Given the description of an element on the screen output the (x, y) to click on. 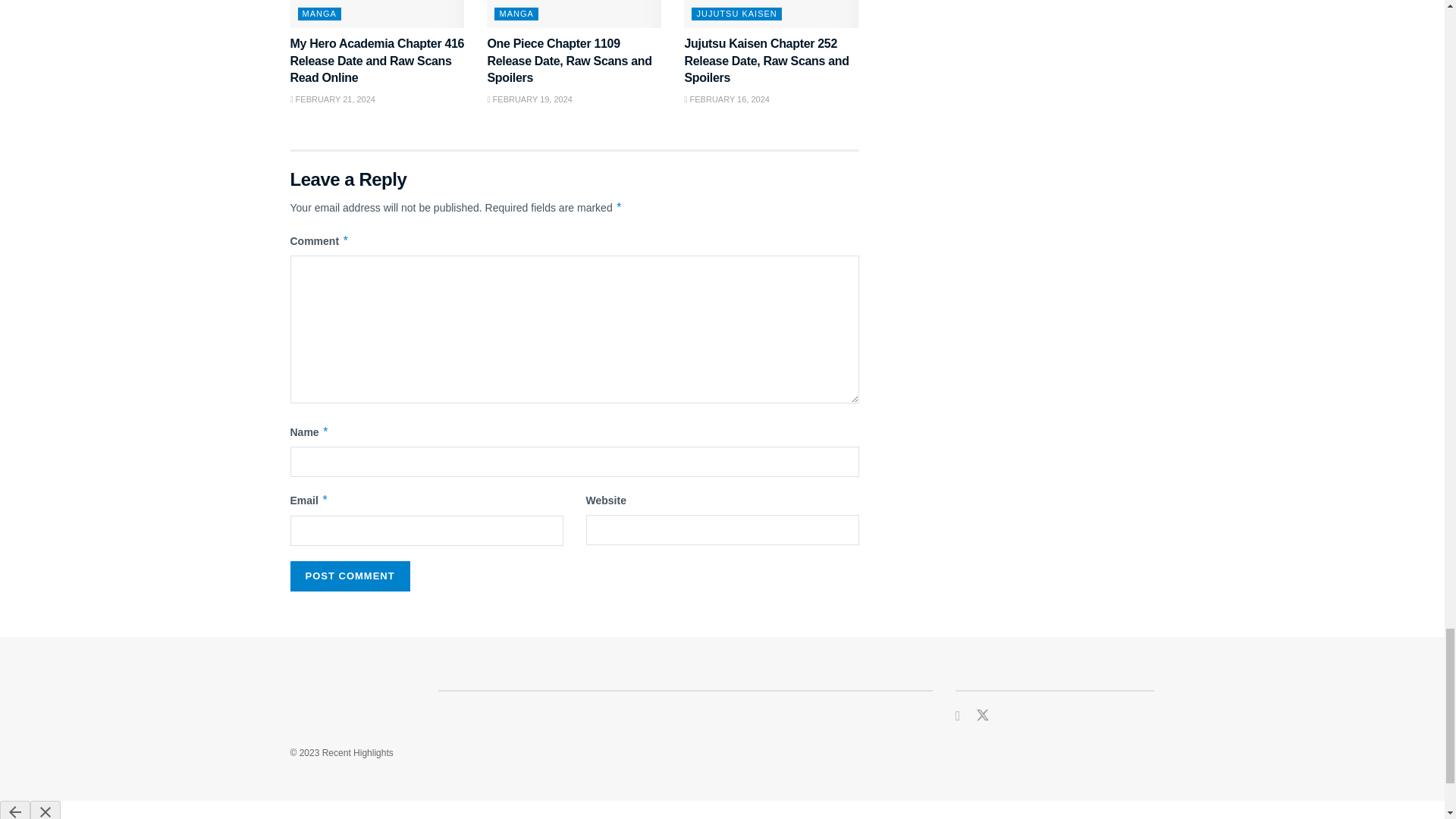
Post Comment (349, 576)
